Given the description of an element on the screen output the (x, y) to click on. 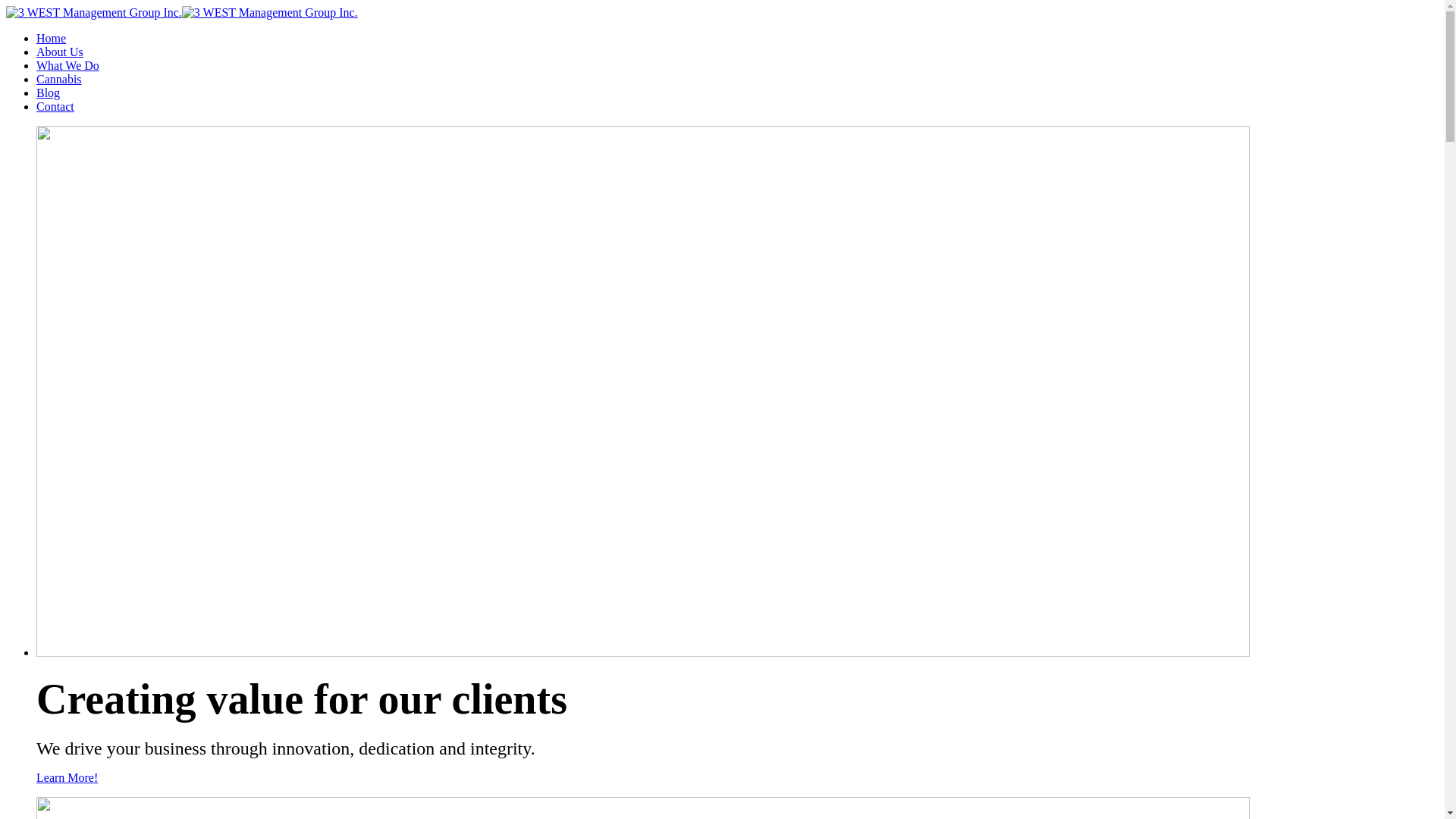
About Us Element type: text (59, 51)
Contact Element type: text (55, 106)
What We Do Element type: text (67, 65)
Learn More! Element type: text (66, 777)
Home Element type: text (50, 37)
Cannabis Element type: text (58, 78)
Blog Element type: text (47, 92)
